Given the description of an element on the screen output the (x, y) to click on. 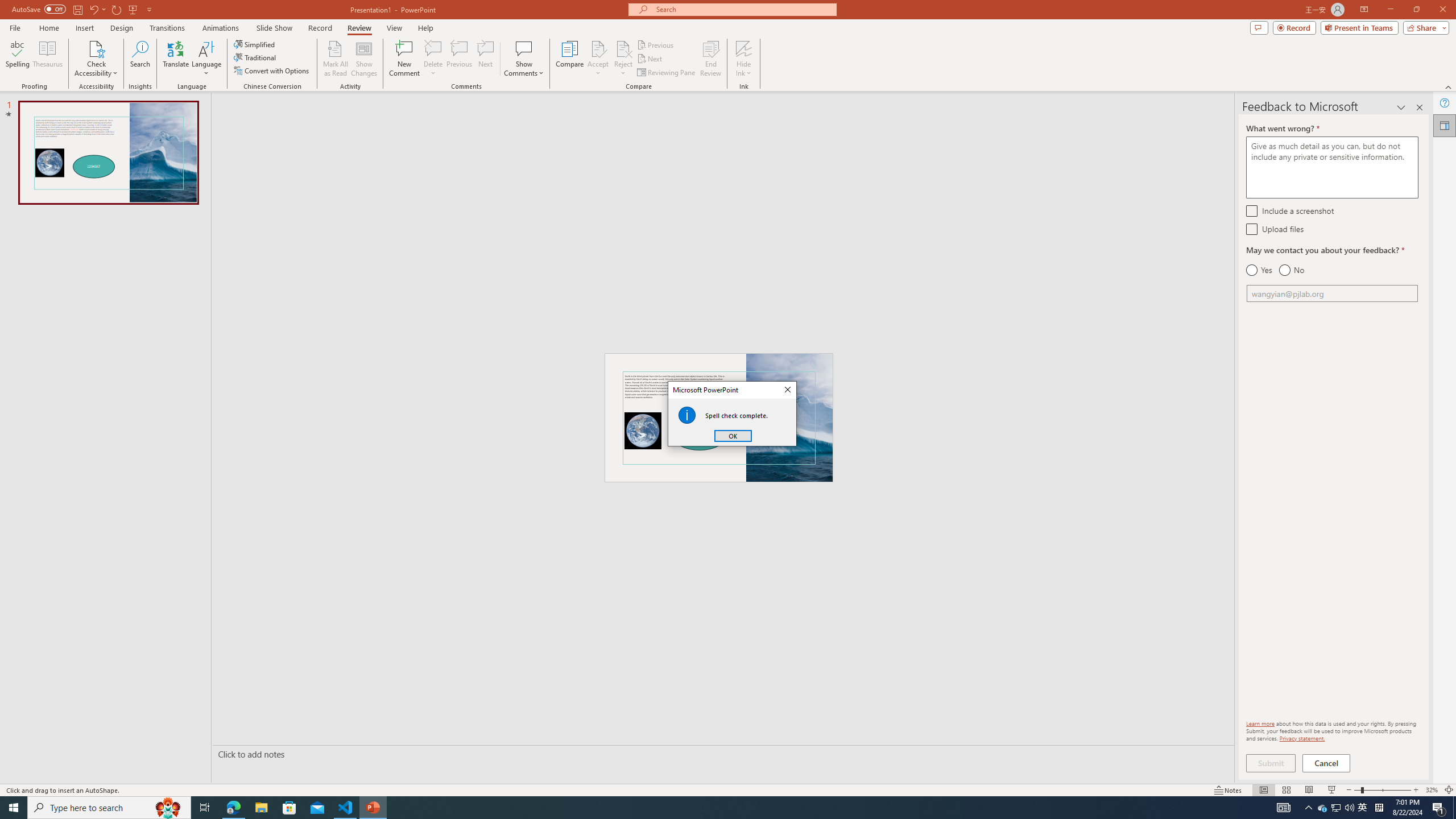
AutomationID: 4105 (1283, 807)
Hide Ink (743, 58)
Class: Static (686, 415)
Close pane (1419, 107)
Yes (1259, 269)
Microsoft Store (289, 807)
